Given the description of an element on the screen output the (x, y) to click on. 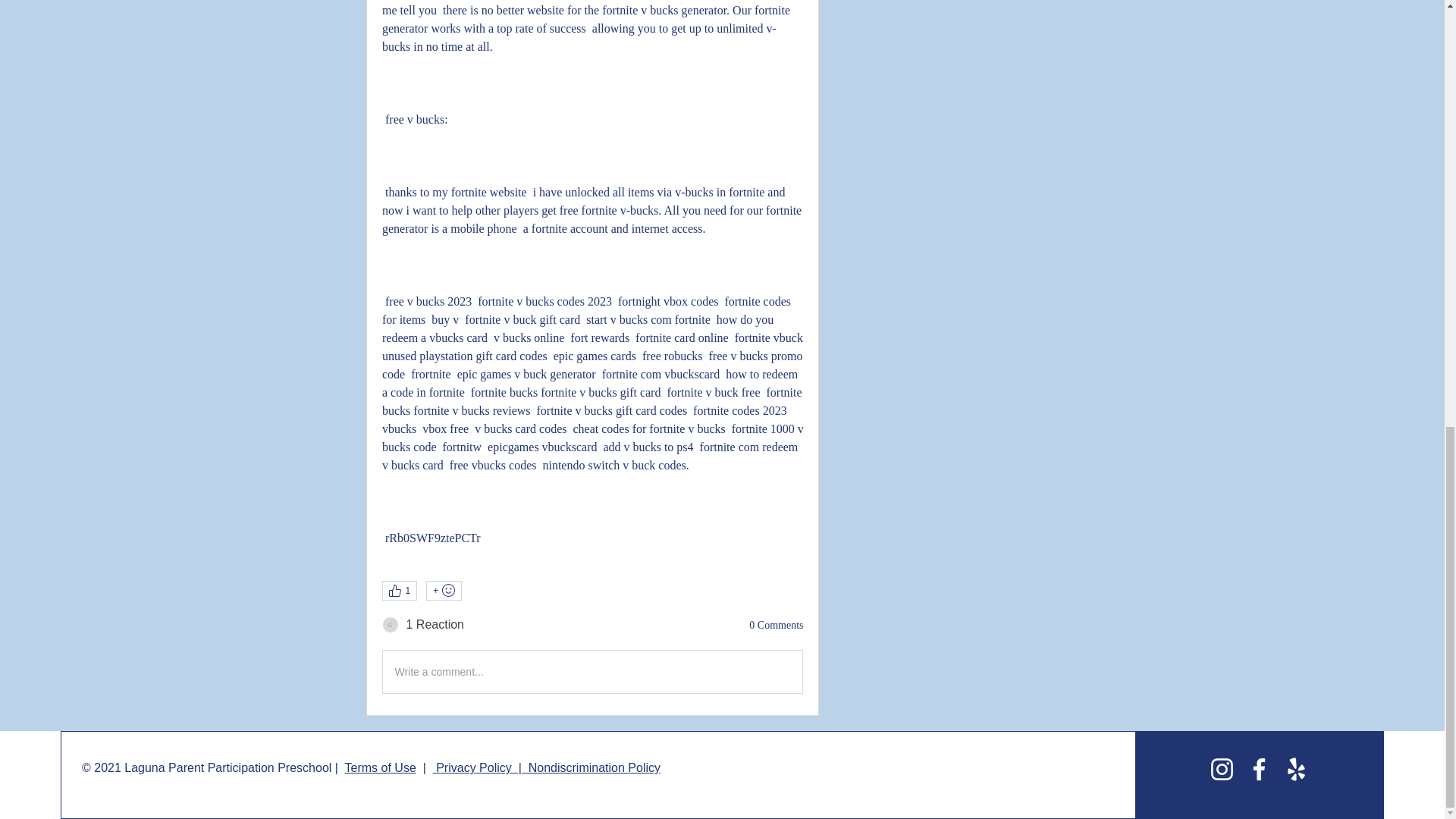
1 Reaction (435, 624)
0 Comments (776, 625)
Write a comment... (591, 671)
games todays (389, 624)
